Given the description of an element on the screen output the (x, y) to click on. 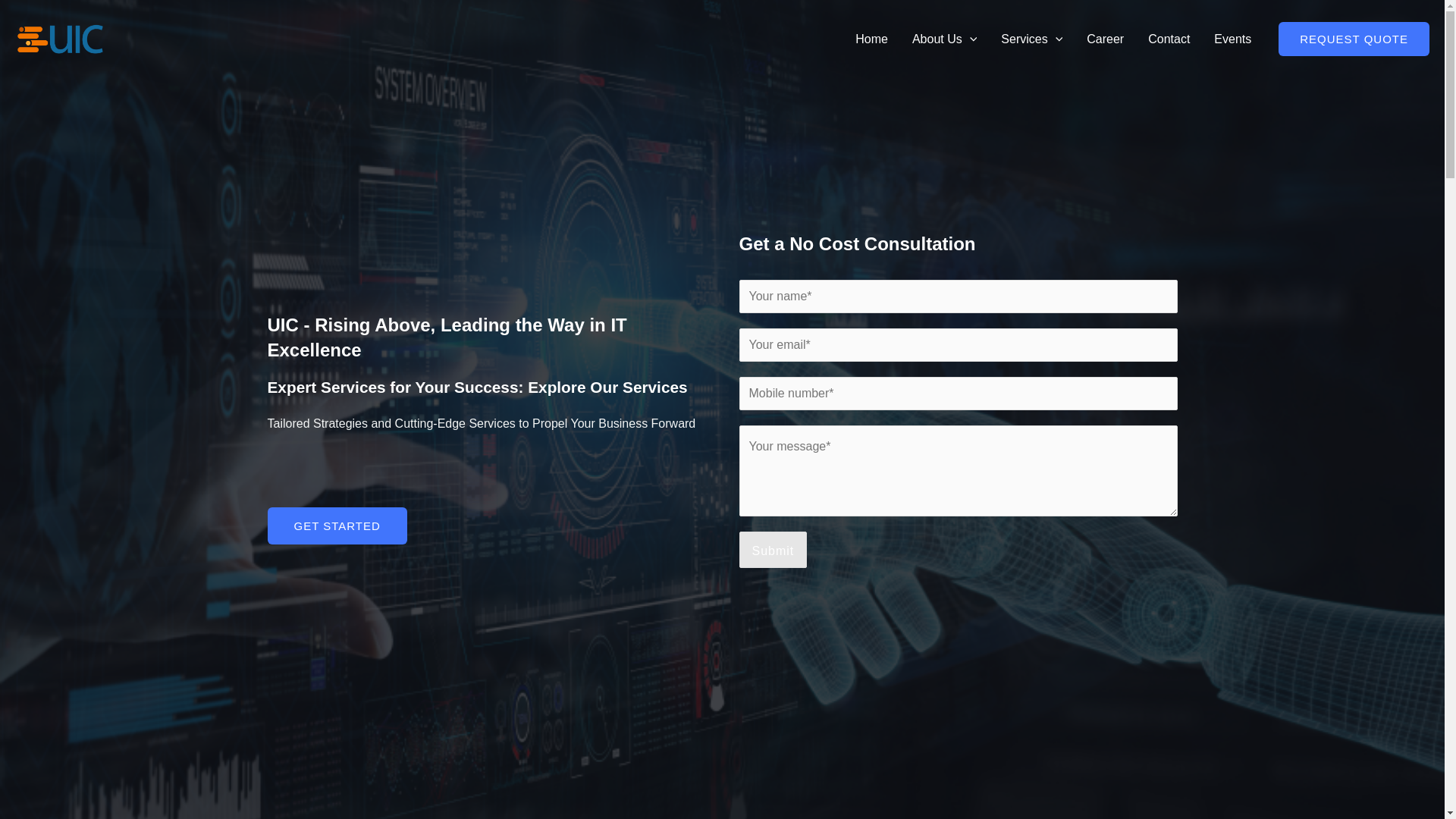
Home (871, 39)
About Us (943, 39)
Services (1031, 39)
